Given the description of an element on the screen output the (x, y) to click on. 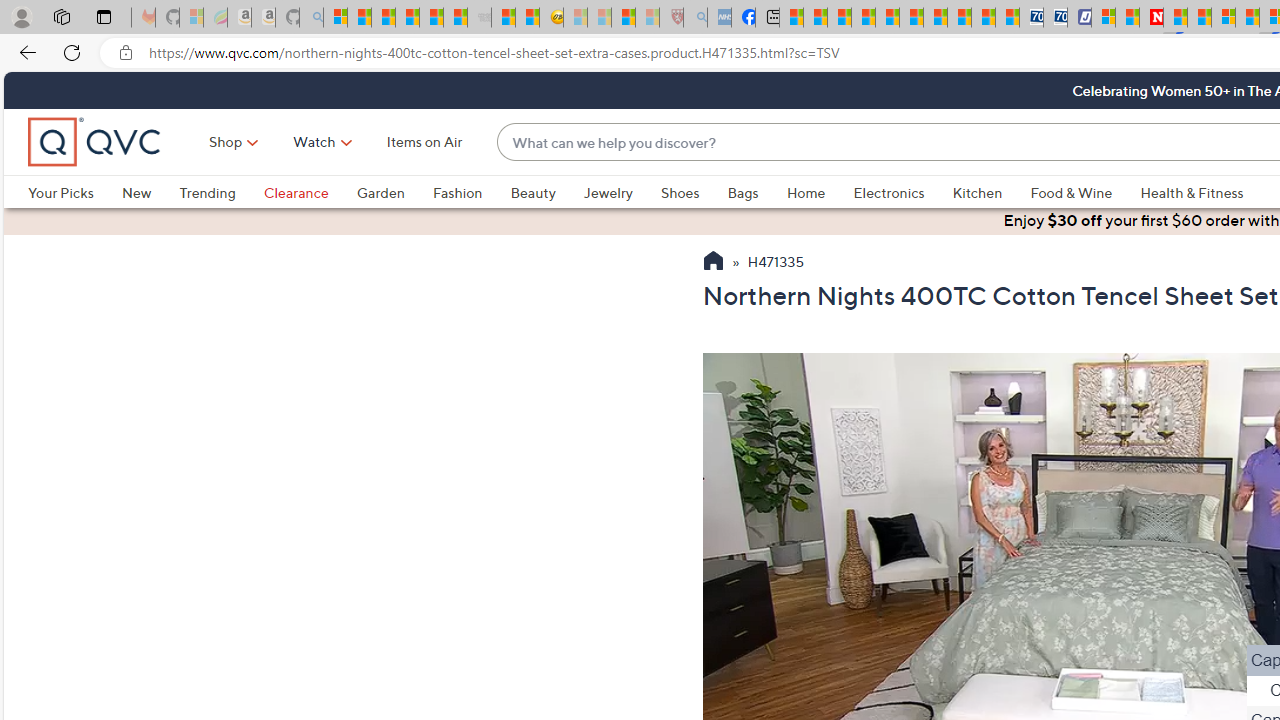
Bags (743, 192)
Beauty (532, 192)
Latest Politics News & Archive | Newsweek.com (1151, 17)
Shoes (680, 192)
Clearance (309, 192)
Shop (226, 141)
Shoes (694, 192)
